Given the description of an element on the screen output the (x, y) to click on. 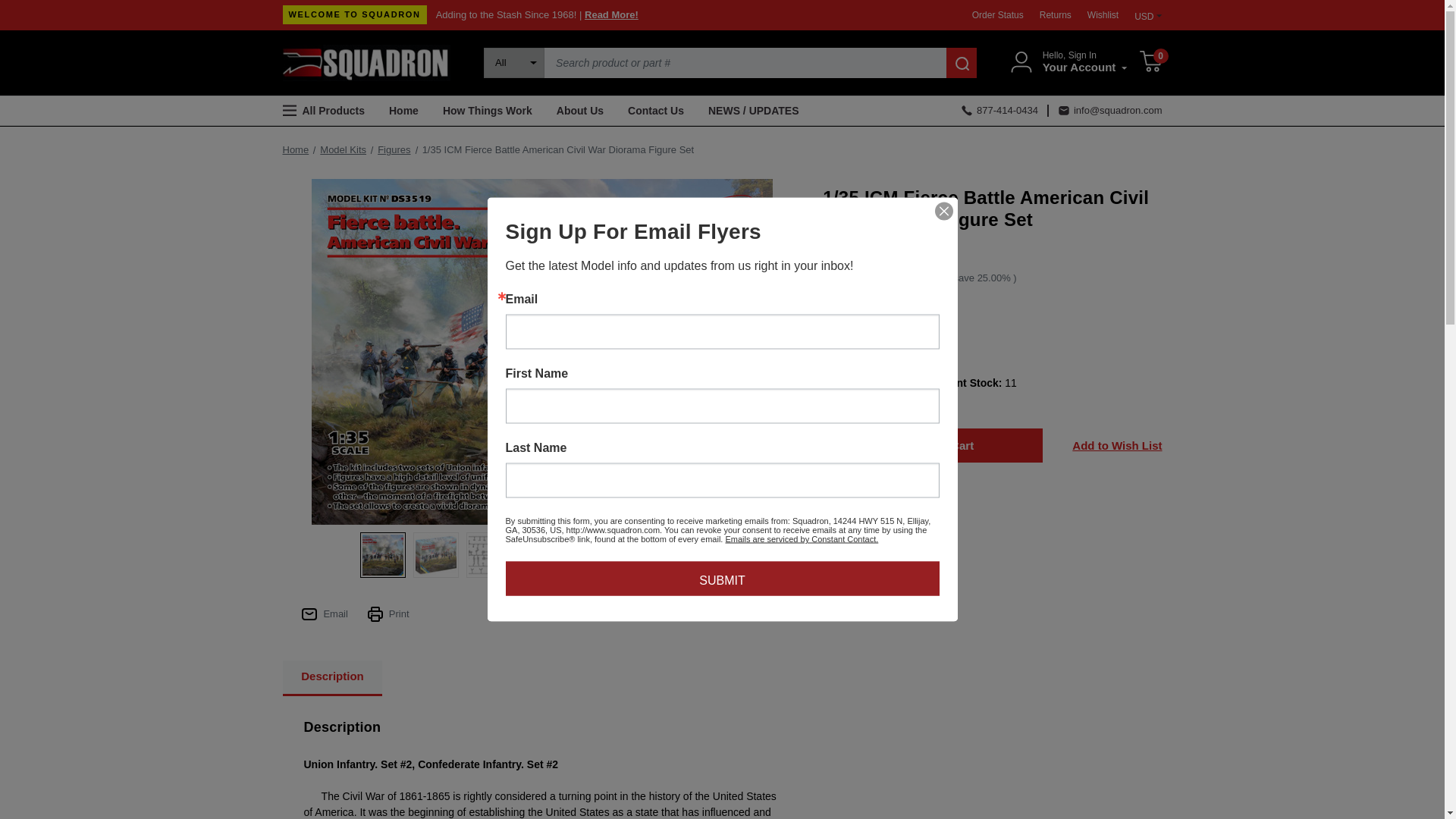
search (961, 62)
Wishlist (1101, 15)
USD (1143, 13)
How Things Work (487, 110)
About Us (579, 110)
Home (403, 110)
0 (1149, 62)
Order Status (996, 15)
1 (863, 383)
Your Account (1084, 67)
Returns (1054, 15)
Squadron.com (365, 62)
Read More! (612, 14)
All Products (328, 110)
